Given the description of an element on the screen output the (x, y) to click on. 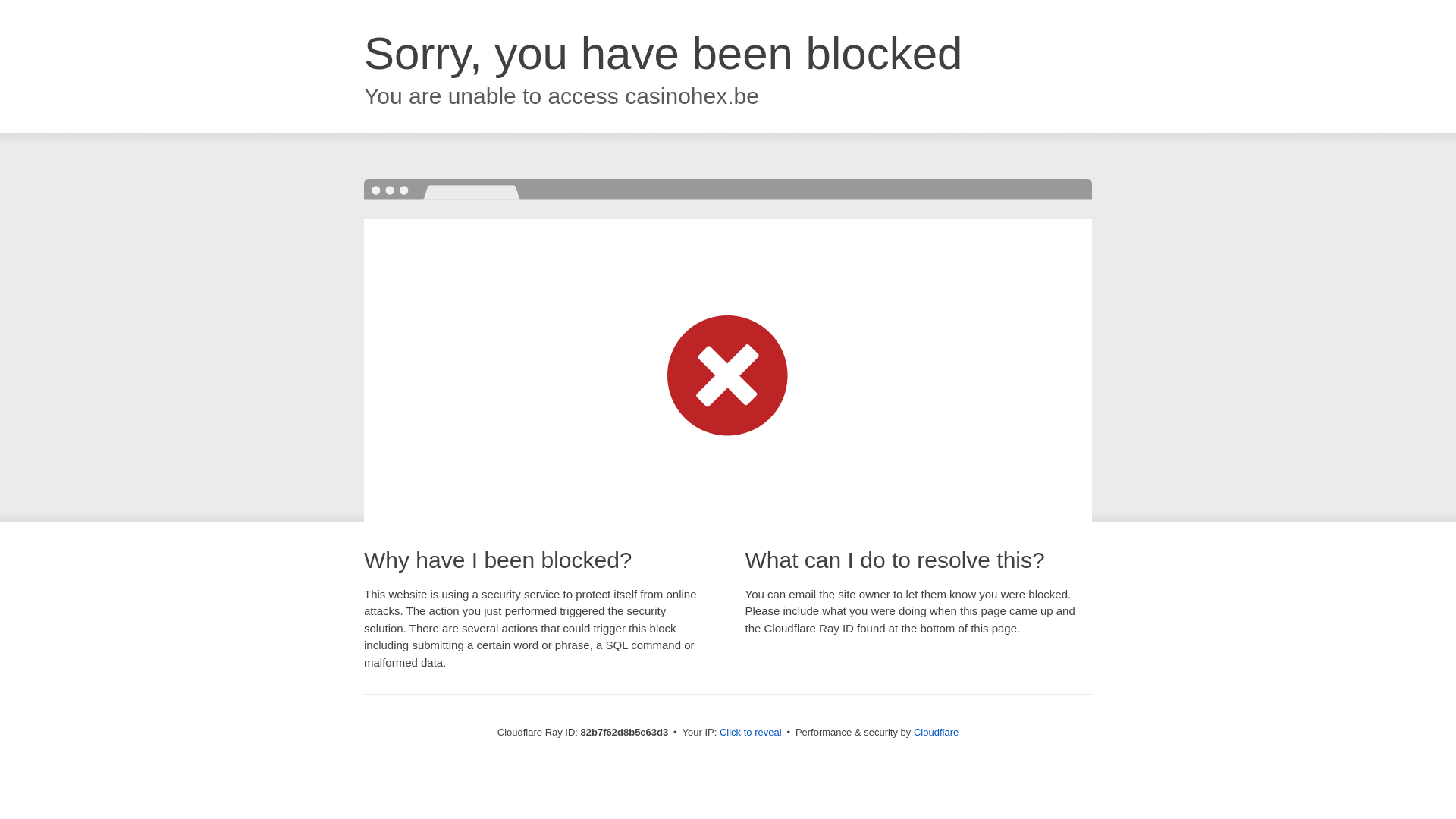
Cloudflare Element type: text (935, 731)
Click to reveal Element type: text (750, 732)
